Given the description of an element on the screen output the (x, y) to click on. 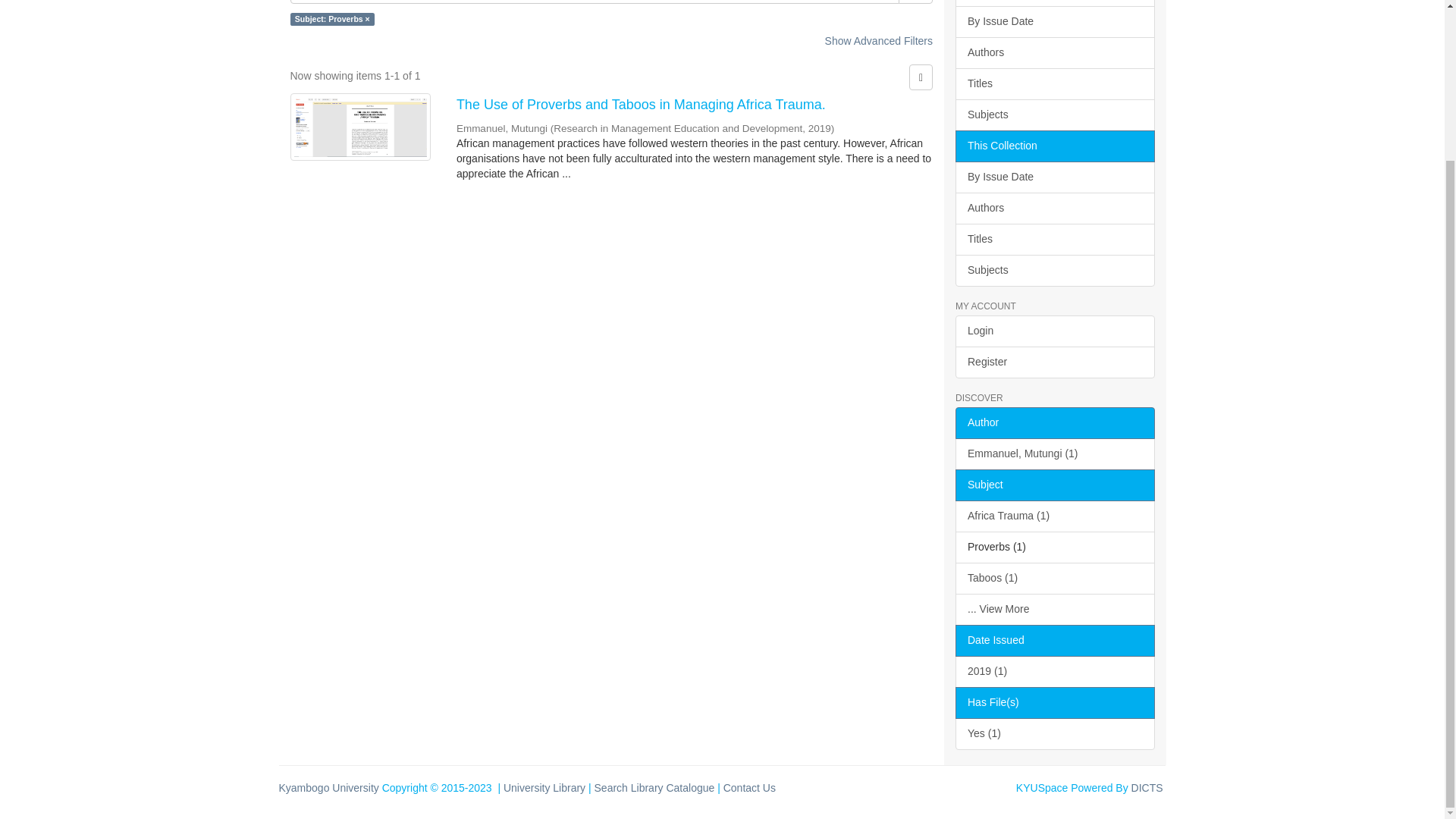
Show Advanced Filters (879, 40)
The Use of Proverbs and Taboos in Managing Africa Trauma.  (695, 105)
Go (915, 2)
